Given the description of an element on the screen output the (x, y) to click on. 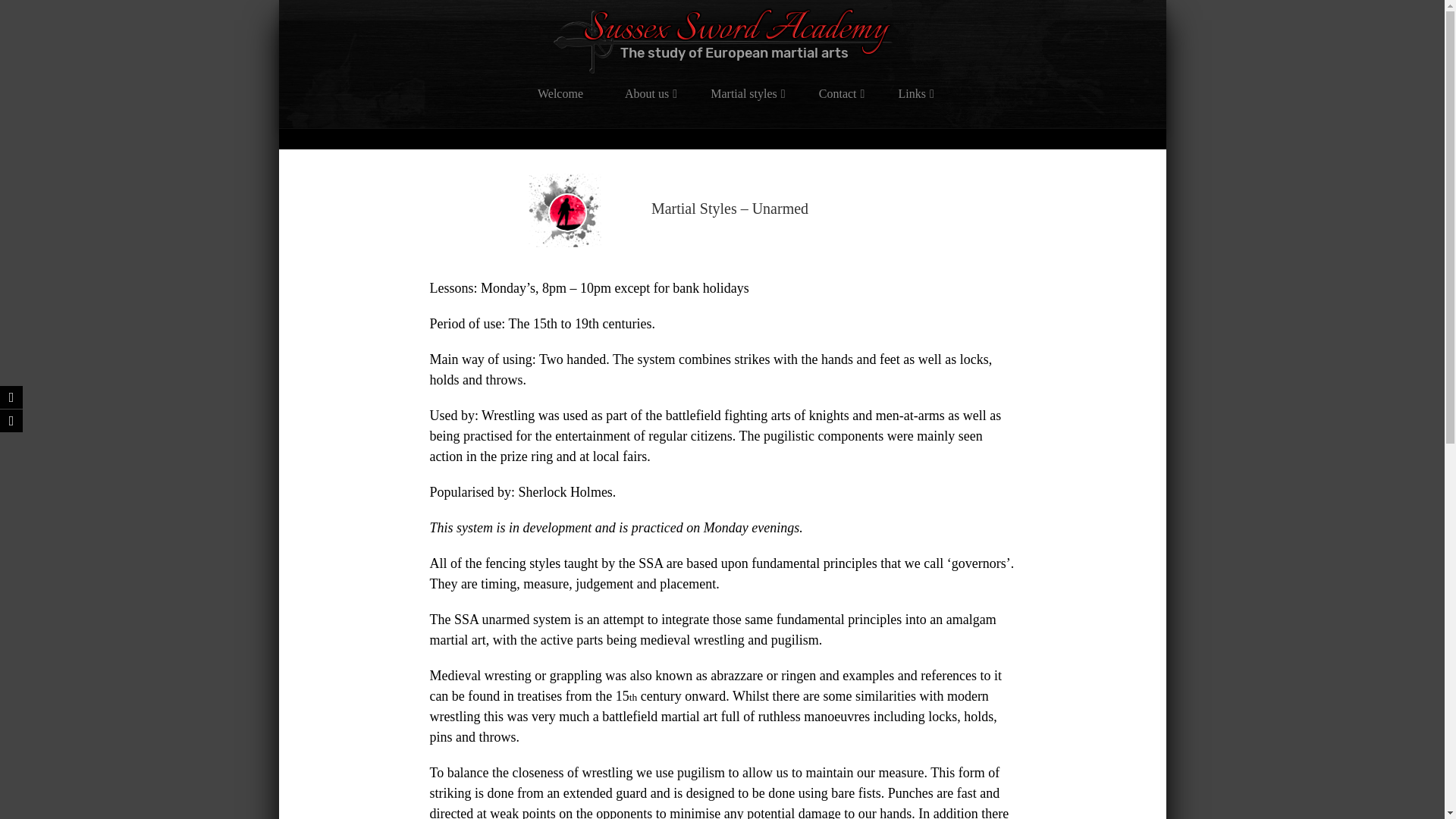
About us (645, 94)
Martial styles (743, 94)
Contact (837, 94)
Welcome (559, 94)
